Given the description of an element on the screen output the (x, y) to click on. 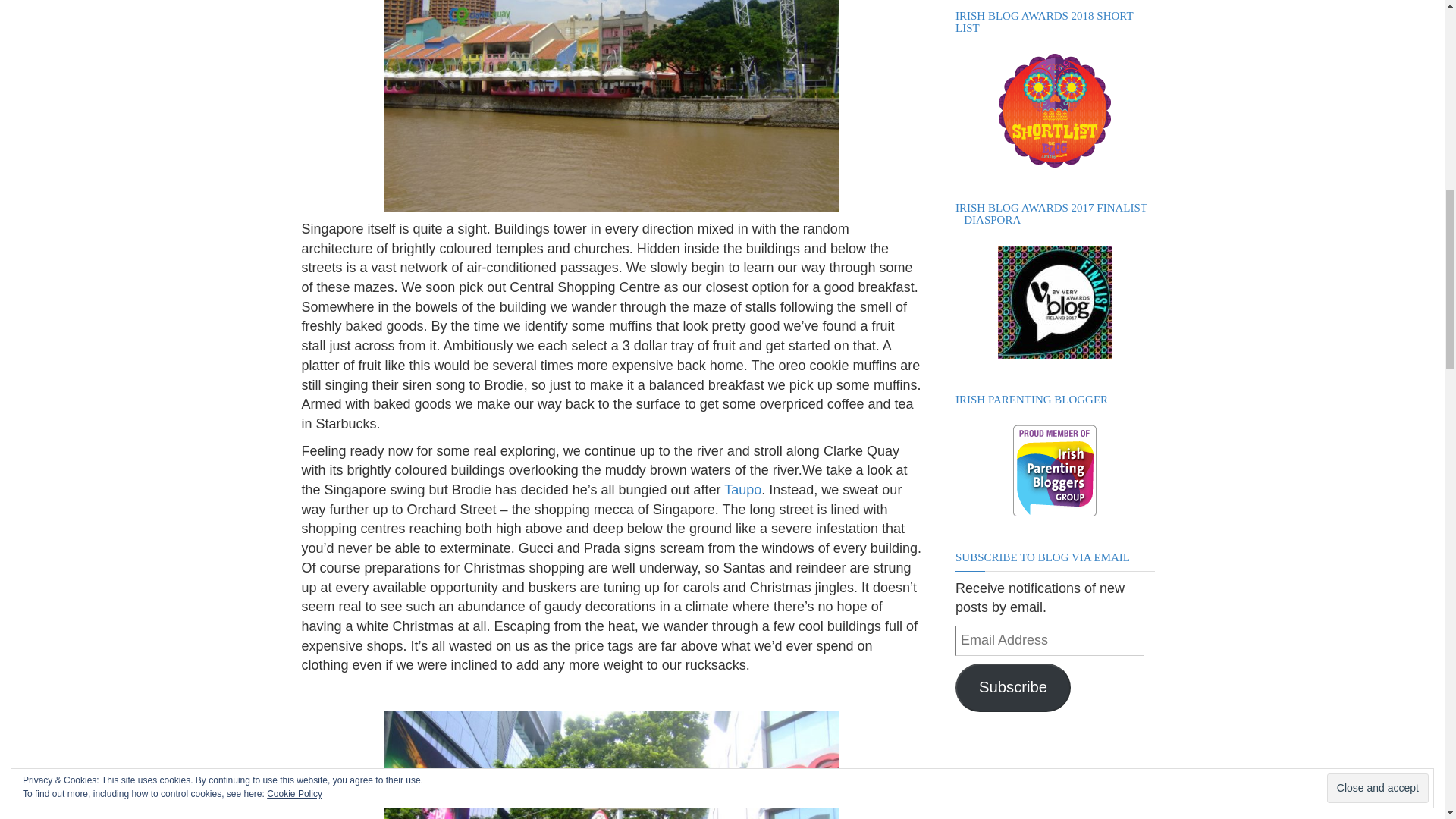
Taupo (742, 489)
